Given the description of an element on the screen output the (x, y) to click on. 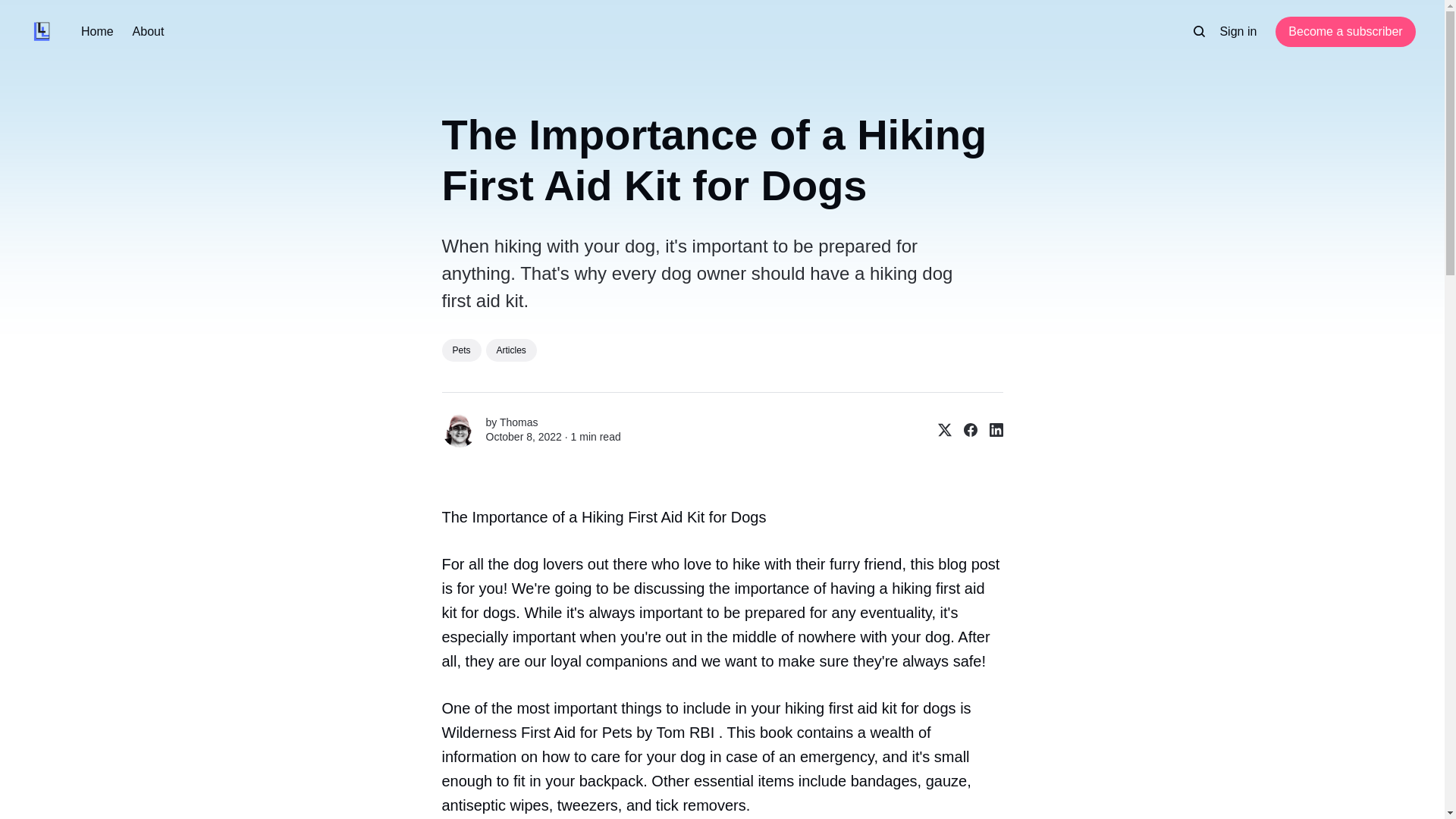
Become a subscriber (1345, 31)
Thomas (518, 422)
About (148, 31)
Home (97, 31)
Sign in (1238, 31)
Pets (460, 350)
Articles (511, 350)
